Given the description of an element on the screen output the (x, y) to click on. 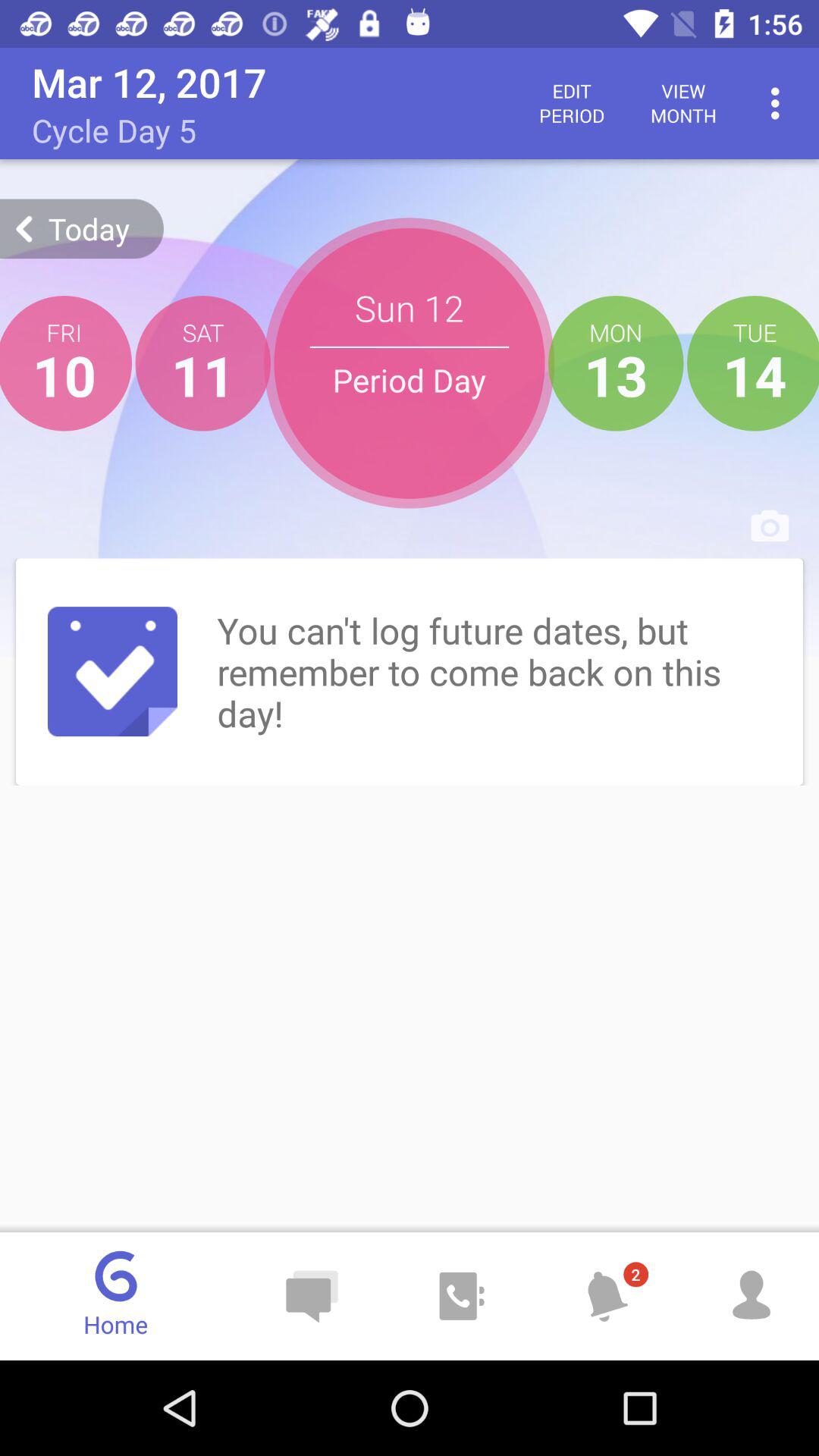
take photo (769, 525)
